Given the description of an element on the screen output the (x, y) to click on. 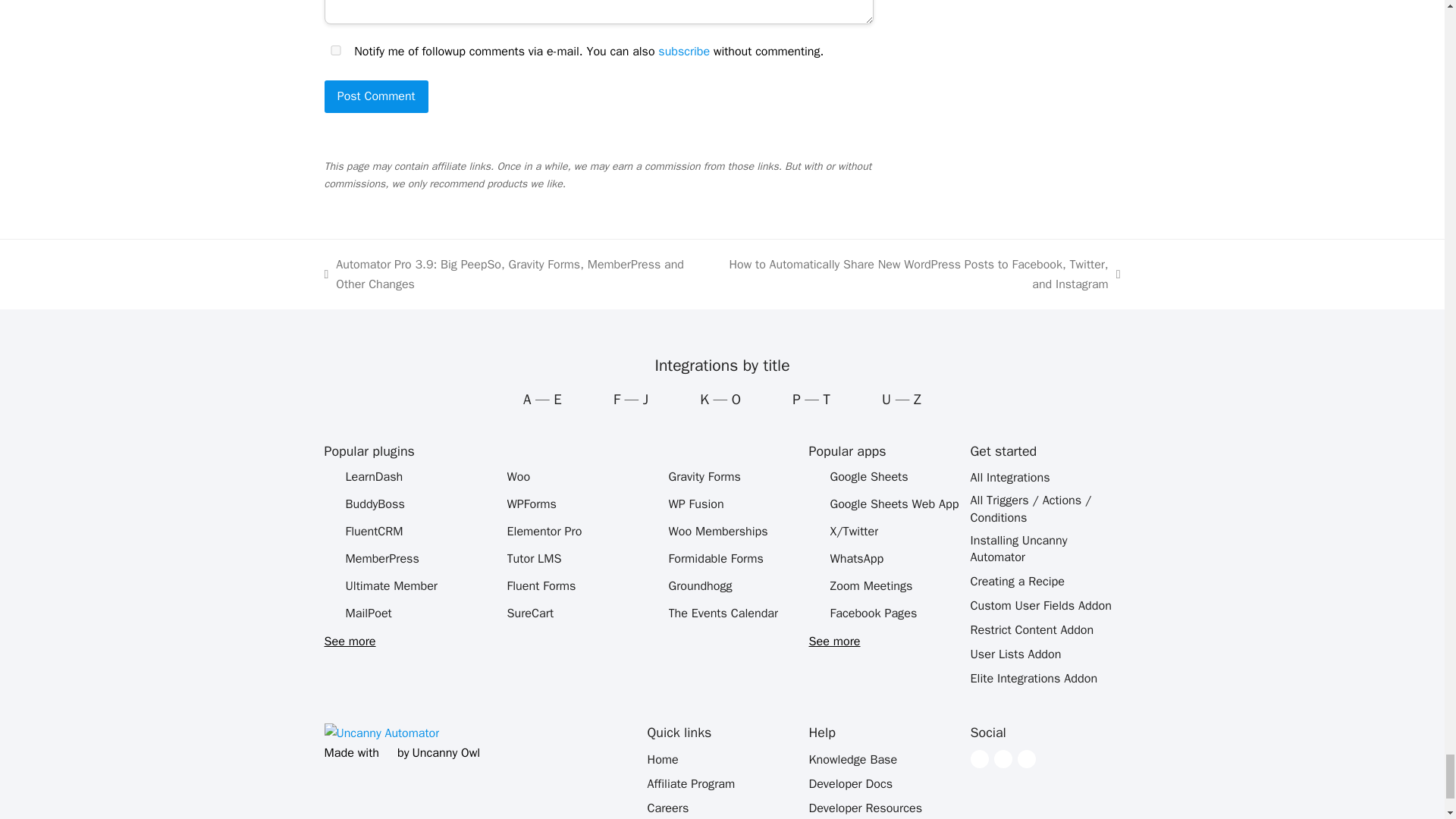
yes (335, 50)
Post Comment (376, 96)
